Given the description of an element on the screen output the (x, y) to click on. 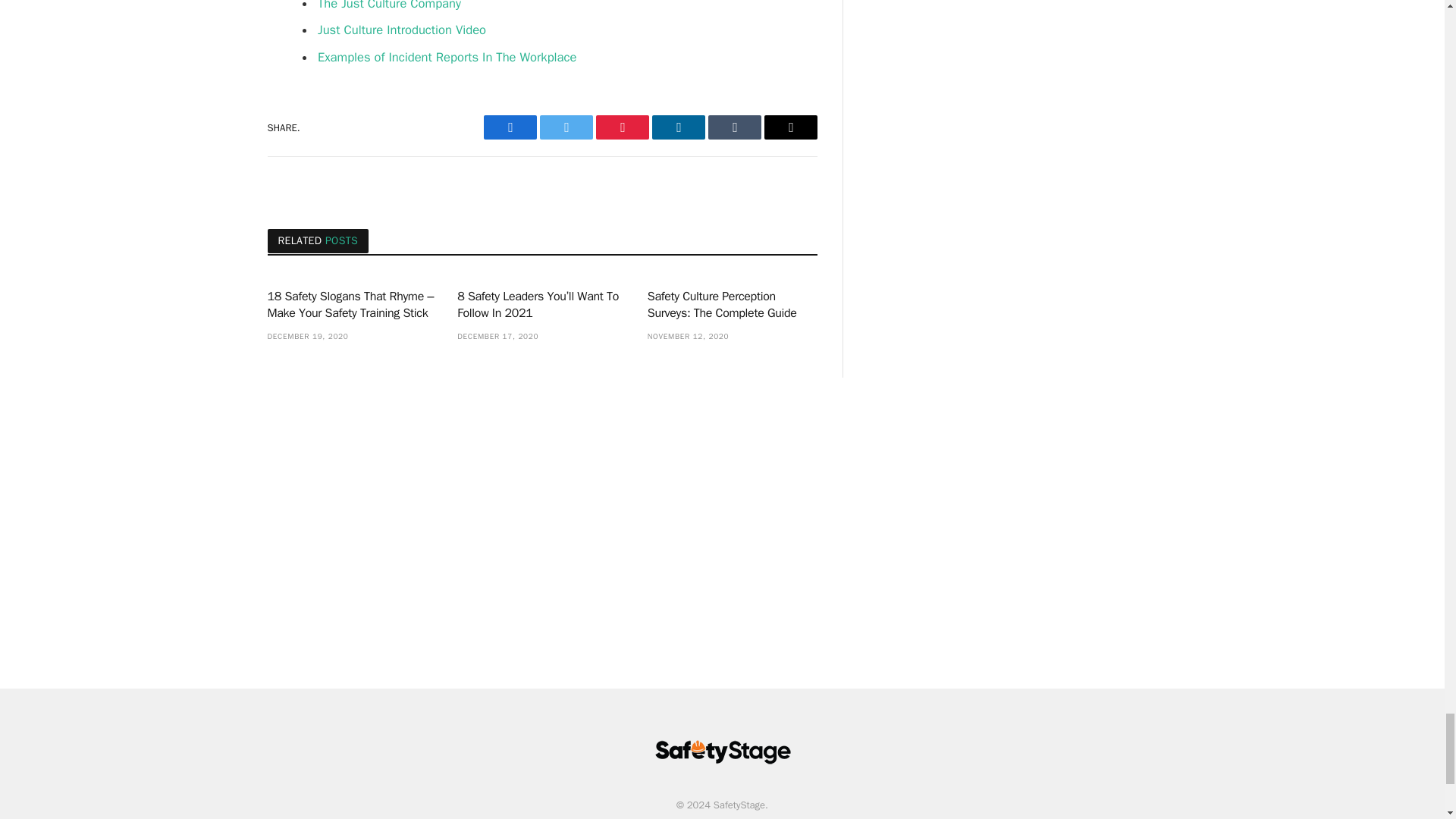
Share on LinkedIn (678, 127)
Share on Pinterest (622, 127)
Share on Facebook (510, 127)
Share on Tumblr (734, 127)
Share via Email (790, 127)
